Given the description of an element on the screen output the (x, y) to click on. 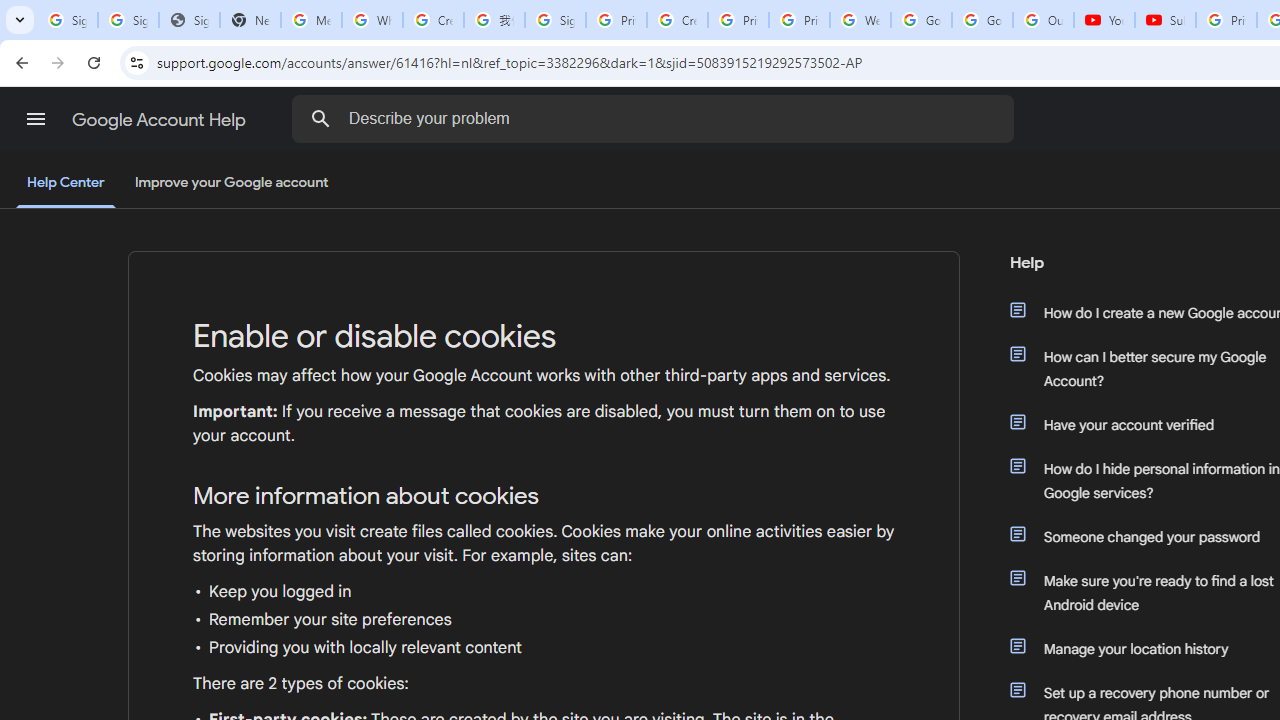
Describe your problem (655, 118)
